Given the description of an element on the screen output the (x, y) to click on. 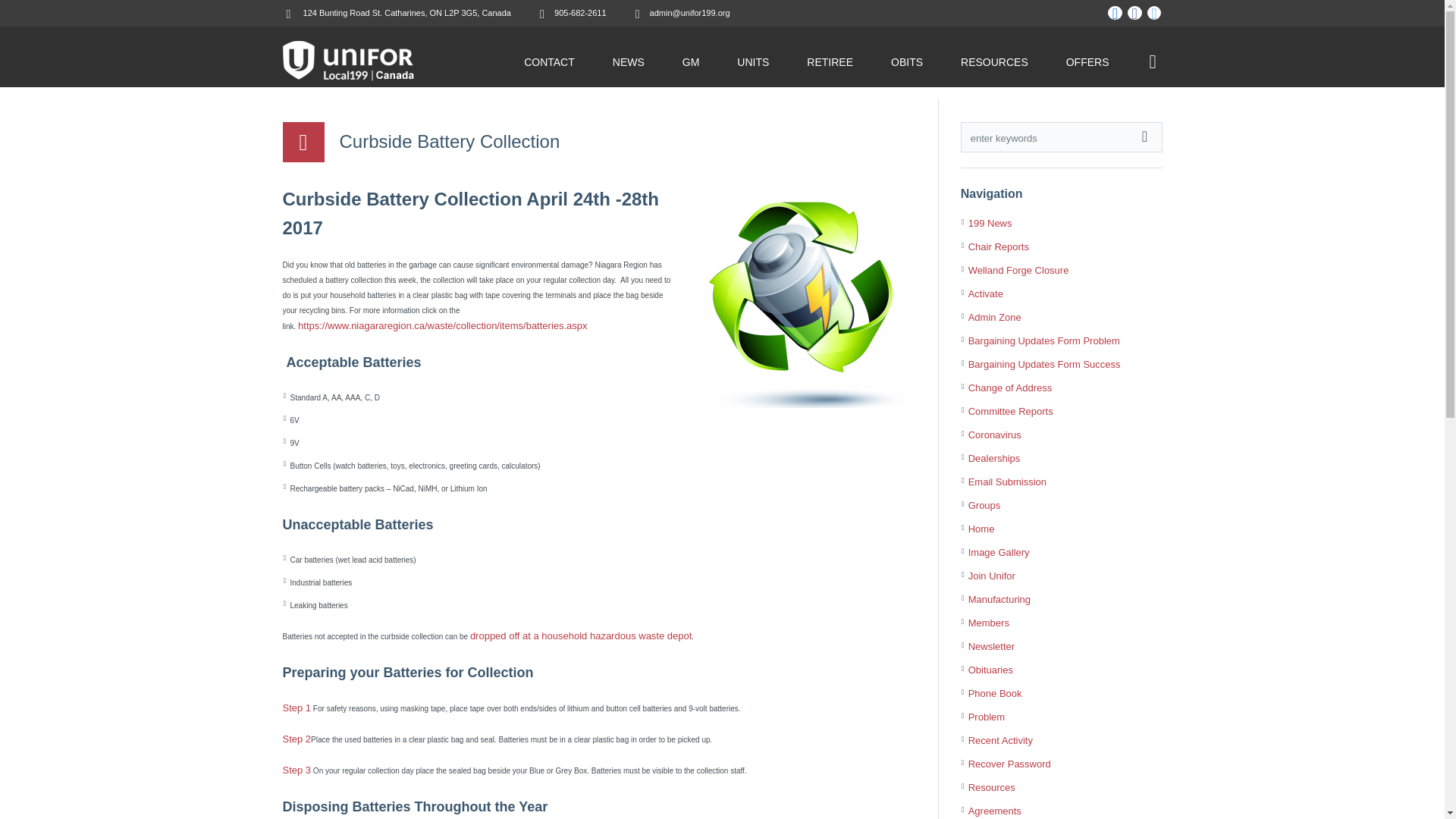
Facebook (1134, 13)
CONTACT (549, 62)
NEWS (628, 62)
Twitter (1154, 13)
Flickr (1115, 13)
GM (691, 62)
